Given the description of an element on the screen output the (x, y) to click on. 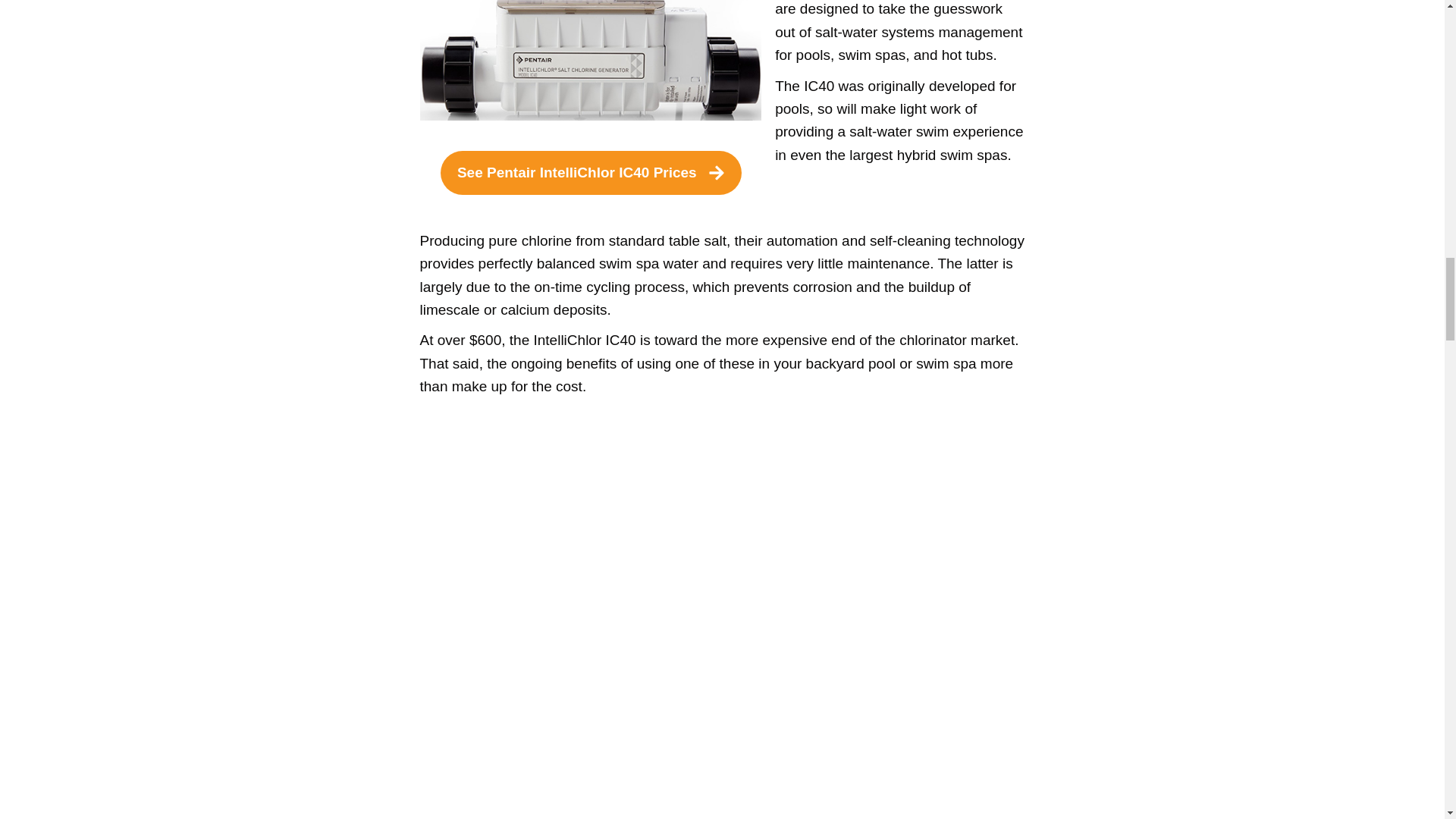
See Pentair IntelliChlor IC40 Prices (591, 172)
Pentair IntelliChlor IC40 (590, 60)
